Given the description of an element on the screen output the (x, y) to click on. 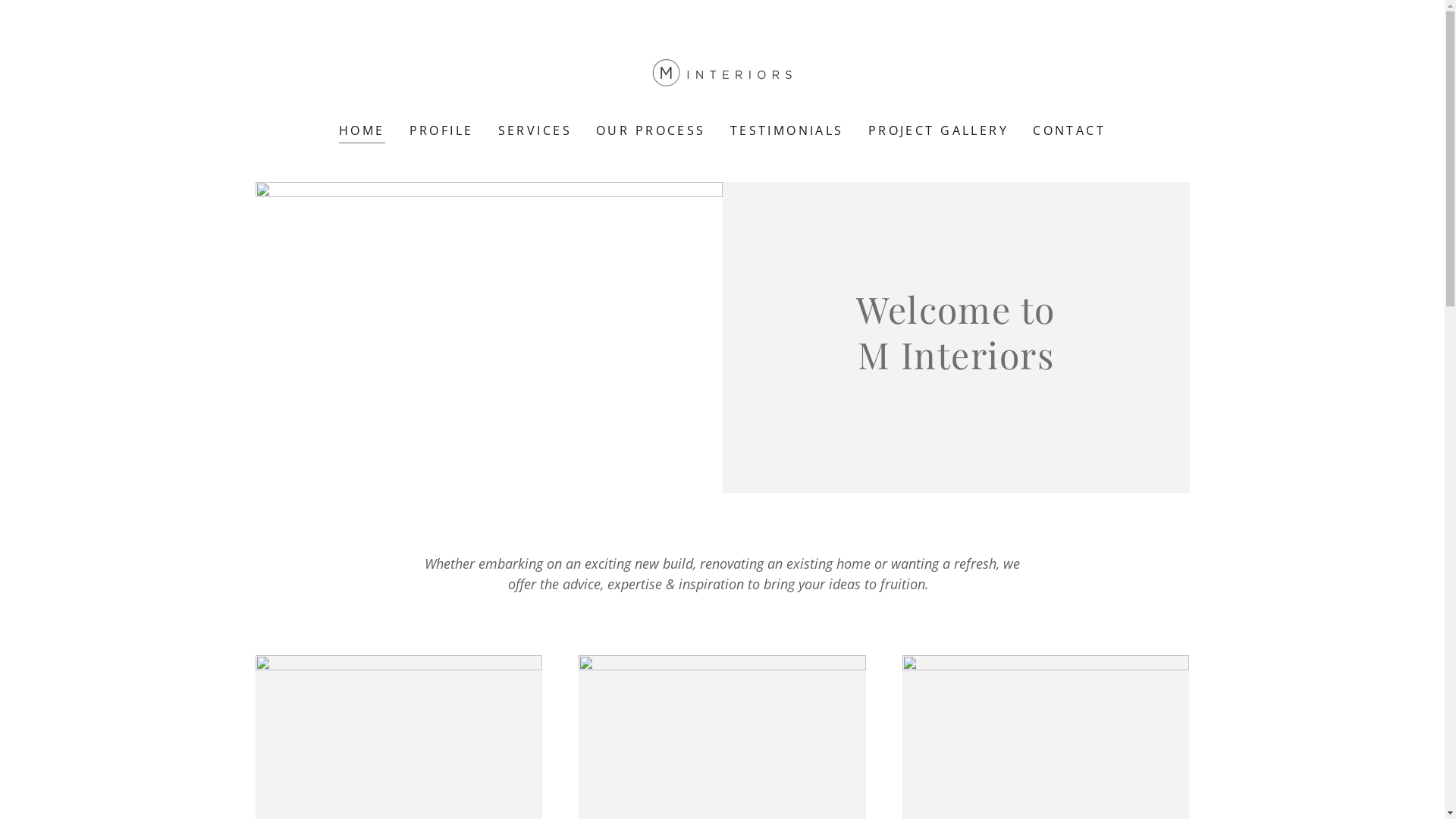
TESTIMONIALS Element type: text (786, 130)
M Interiors Element type: hover (721, 71)
HOME Element type: text (361, 132)
OUR PROCESS Element type: text (650, 130)
CONTACT Element type: text (1069, 130)
PROFILE Element type: text (441, 130)
SERVICES Element type: text (534, 130)
PROJECT GALLERY Element type: text (938, 130)
